Given the description of an element on the screen output the (x, y) to click on. 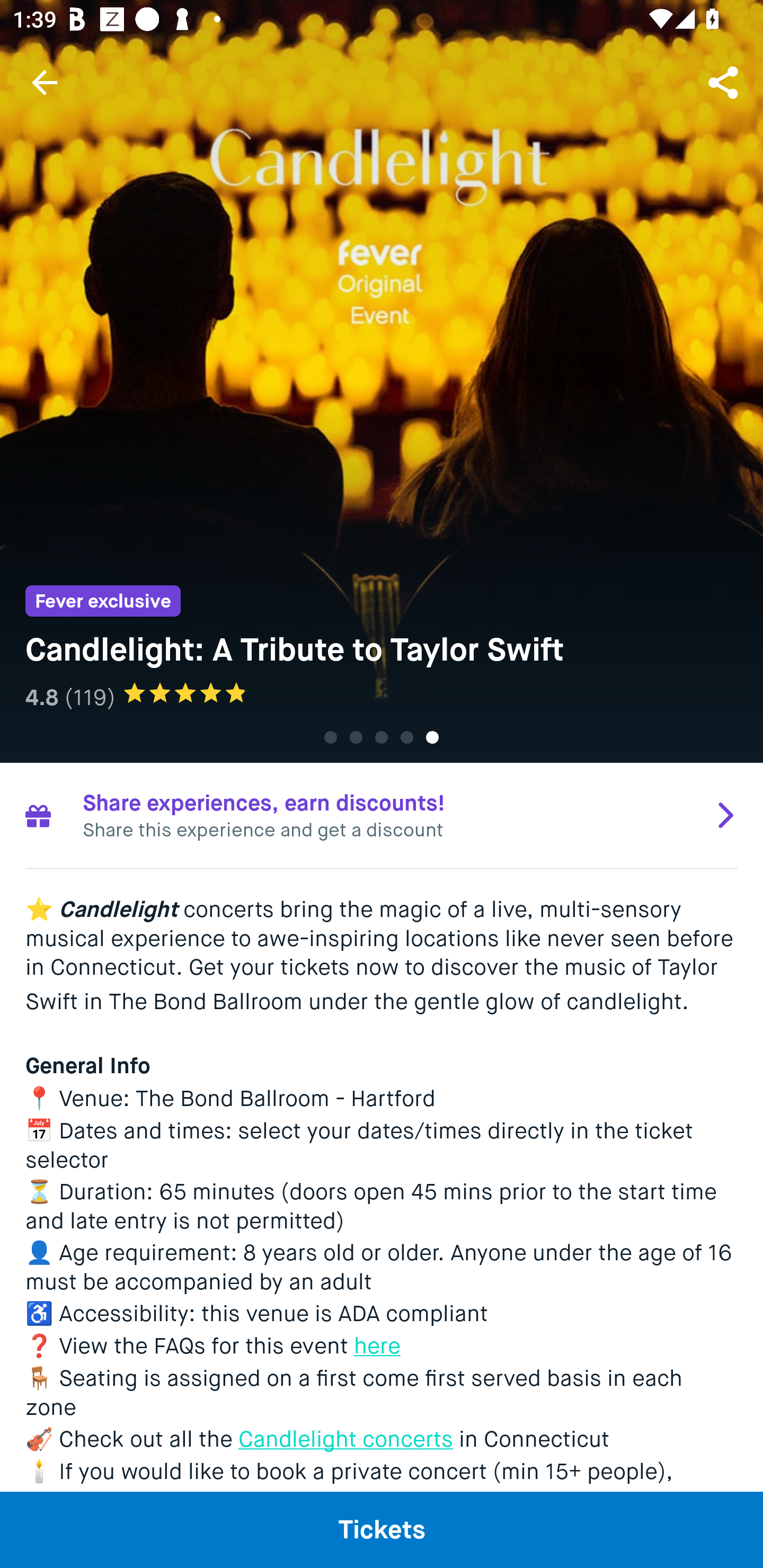
Navigate up (44, 82)
Share (724, 81)
(119) (89, 697)
Tickets (381, 1529)
